Given the description of an element on the screen output the (x, y) to click on. 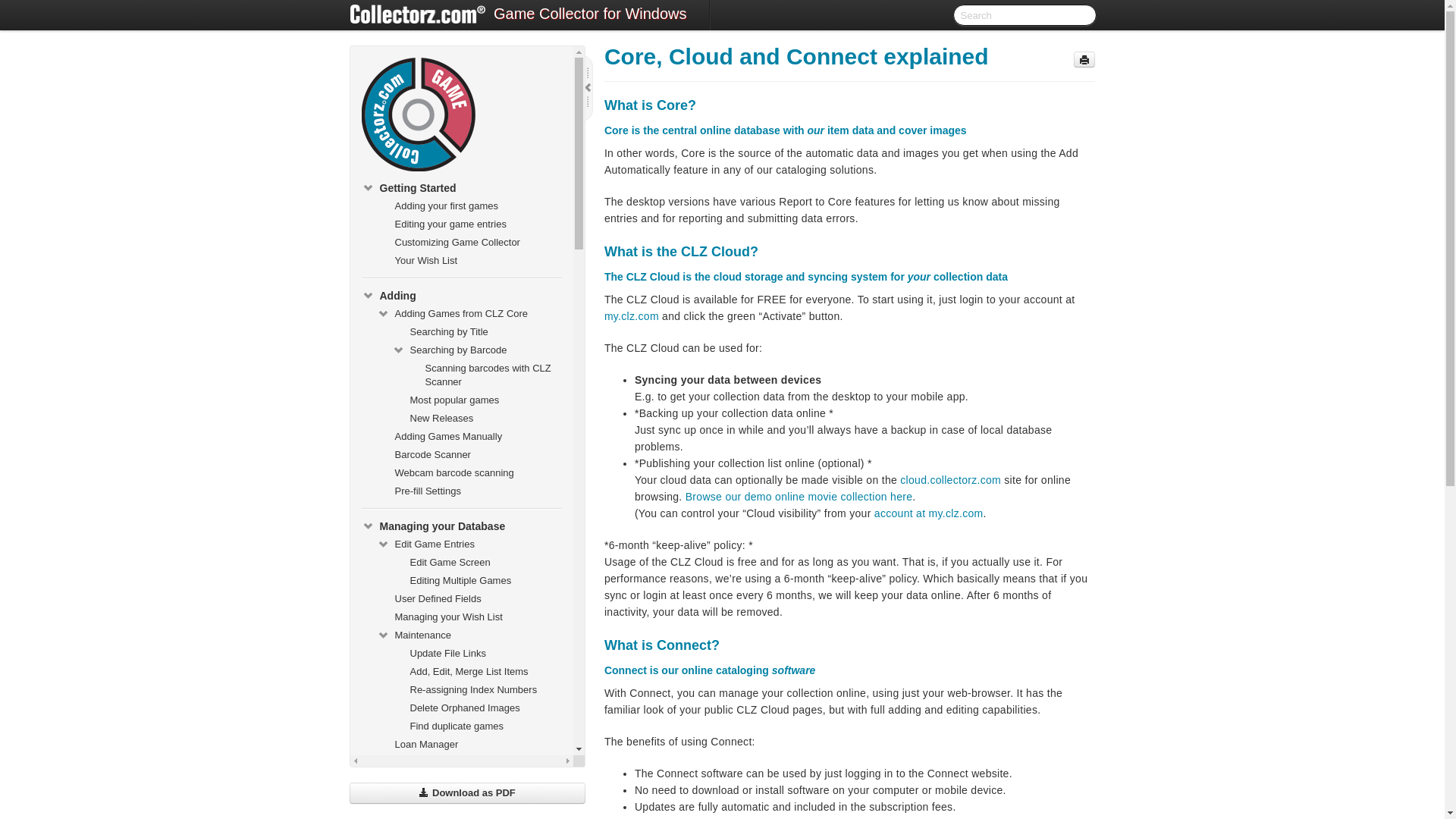
Print page (1084, 59)
Game Collector for Windows (590, 15)
